Given the description of an element on the screen output the (x, y) to click on. 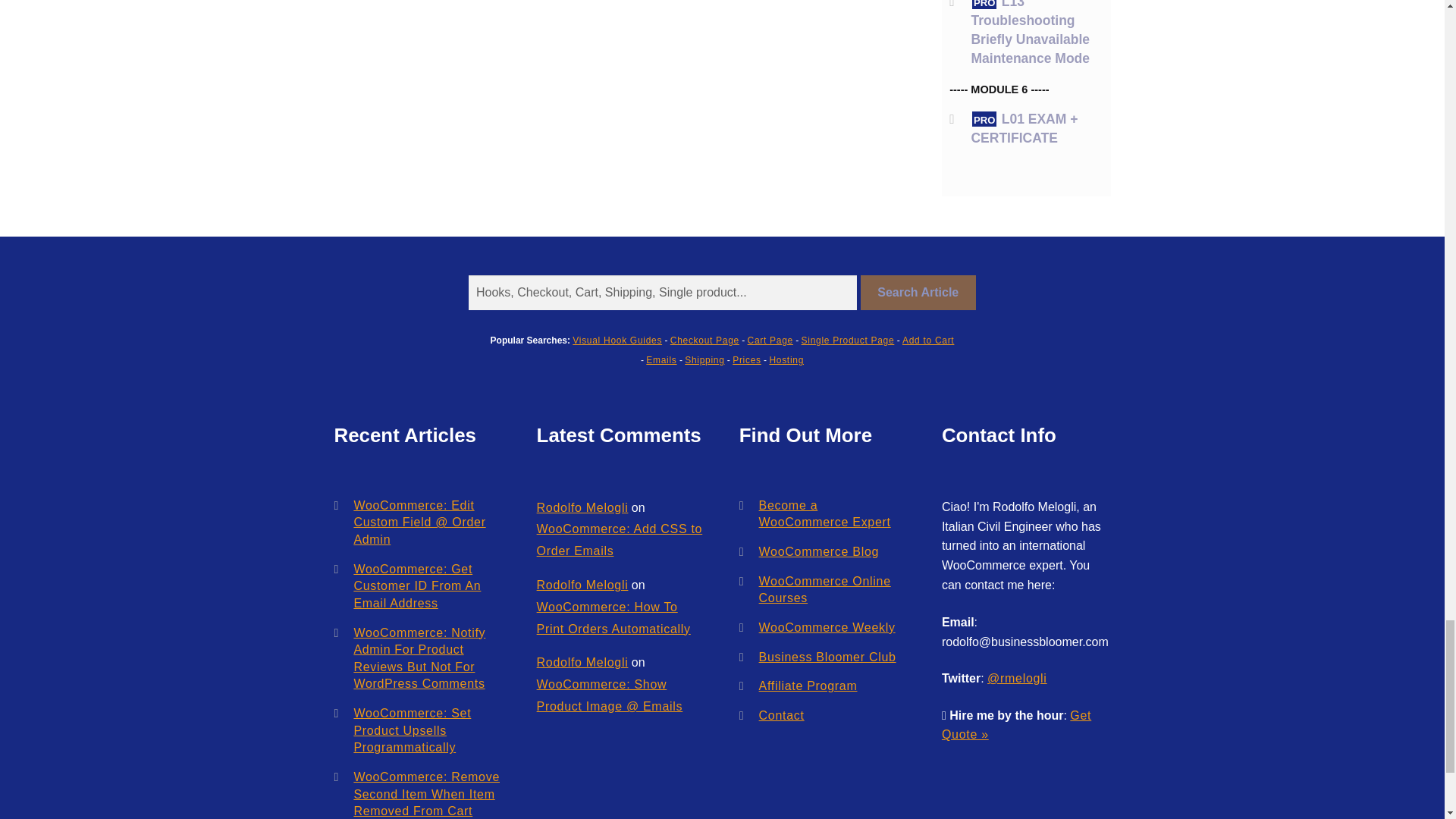
Search Article (917, 292)
Search Article (917, 292)
